Given the description of an element on the screen output the (x, y) to click on. 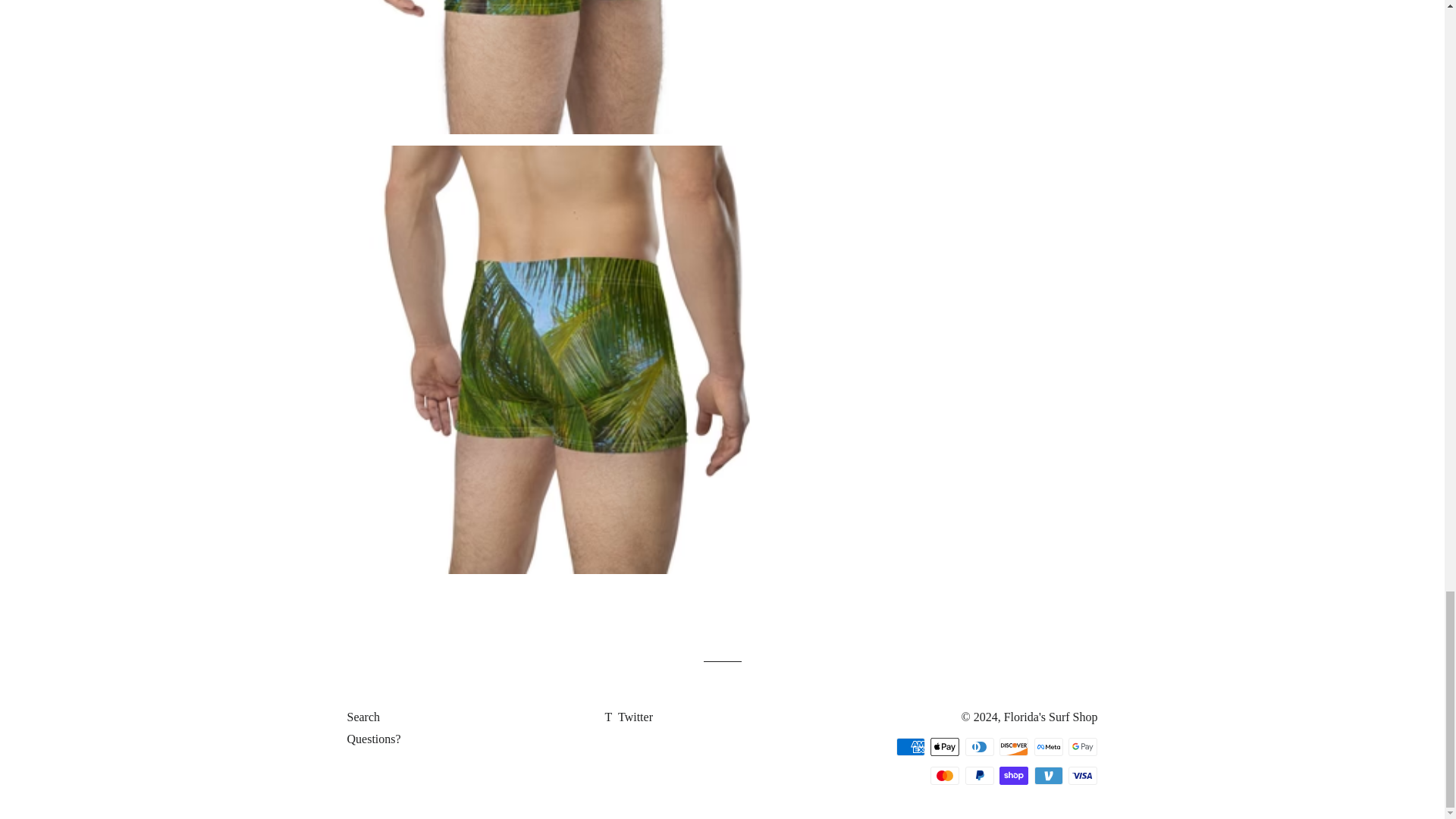
Visa (1082, 775)
Meta Pay (1047, 746)
Apple Pay (944, 746)
Florida's Surf Shop on Twitter (628, 716)
American Express (910, 746)
Google Pay (1082, 746)
Mastercard (944, 775)
Discover (1012, 746)
PayPal (979, 775)
Venmo (1047, 775)
